Given the description of an element on the screen output the (x, y) to click on. 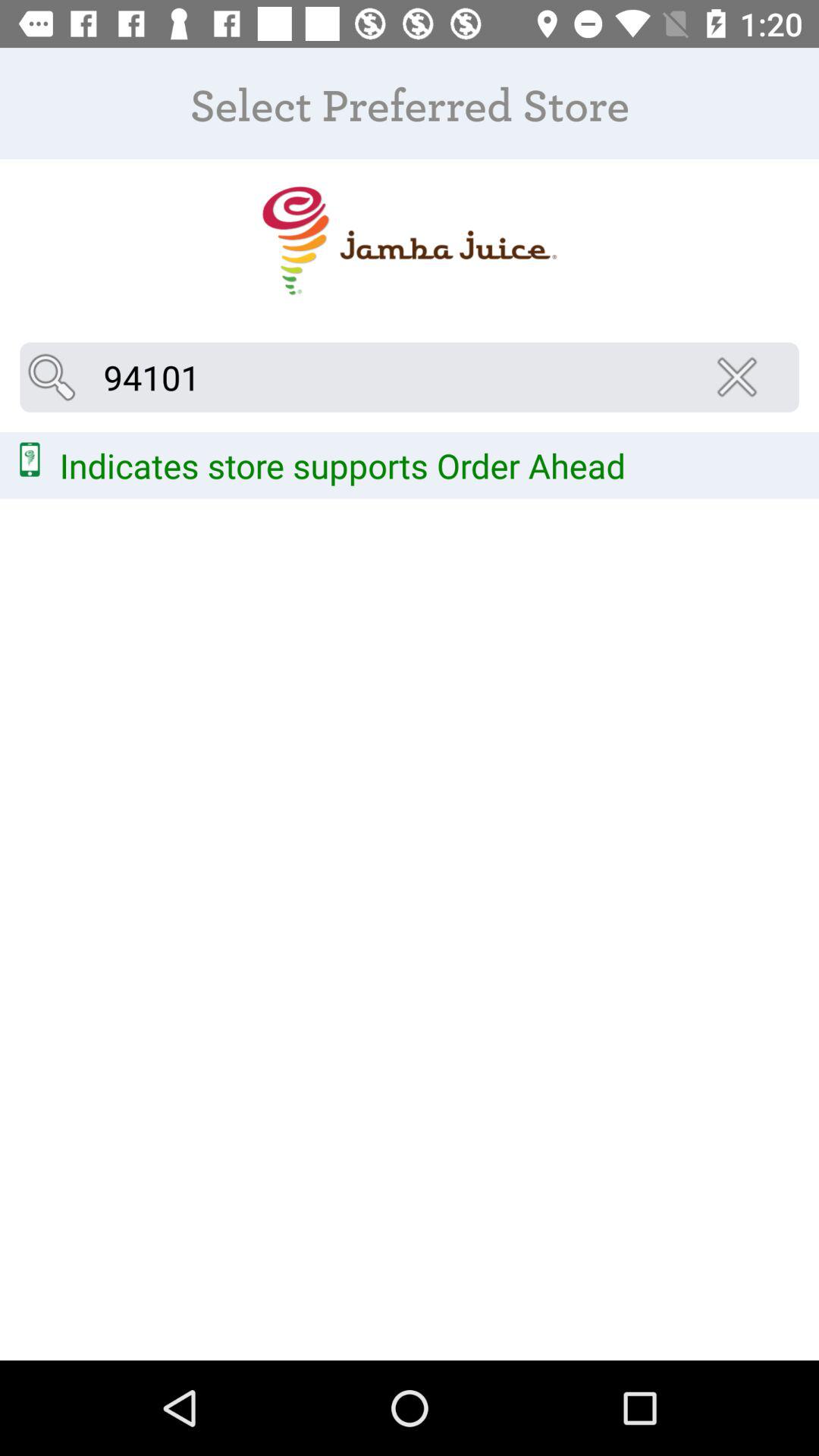
choose the 94101 icon (409, 377)
